Given the description of an element on the screen output the (x, y) to click on. 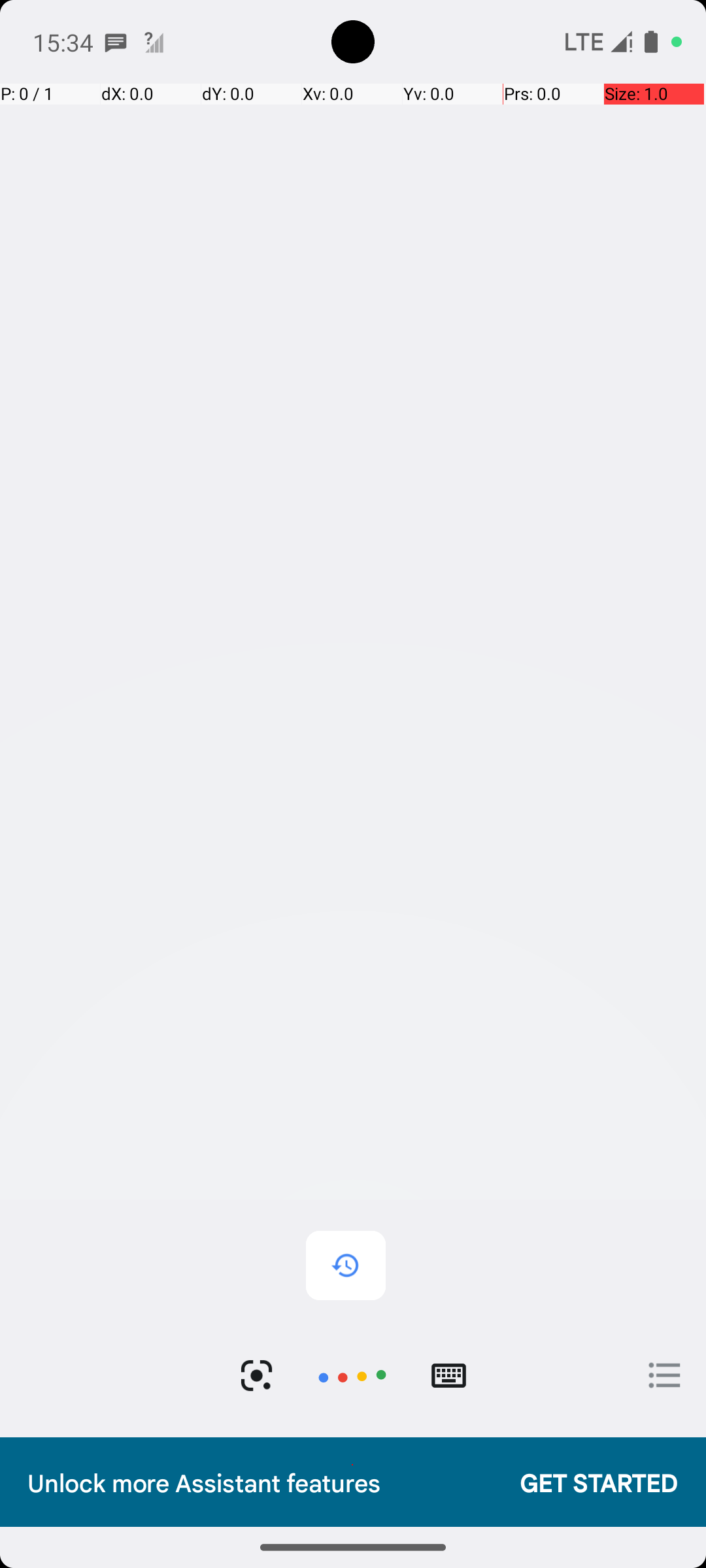
Tap to dismiss Assistant Element type: android.view.ViewGroup (353, 804)
Google Assistant widget. Element type: android.support.v7.widget.RecyclerView (353, 760)
Tap to cancel Element type: android.view.View (351, 1375)
Type mode Element type: android.widget.ImageView (448, 1375)
Unlock more Assistant features Element type: android.widget.TextView (259, 1481)
GET STARTED Element type: android.widget.TextView (585, 1481)
Open explore page Element type: android.widget.ImageView (664, 1375)
